Given the description of an element on the screen output the (x, y) to click on. 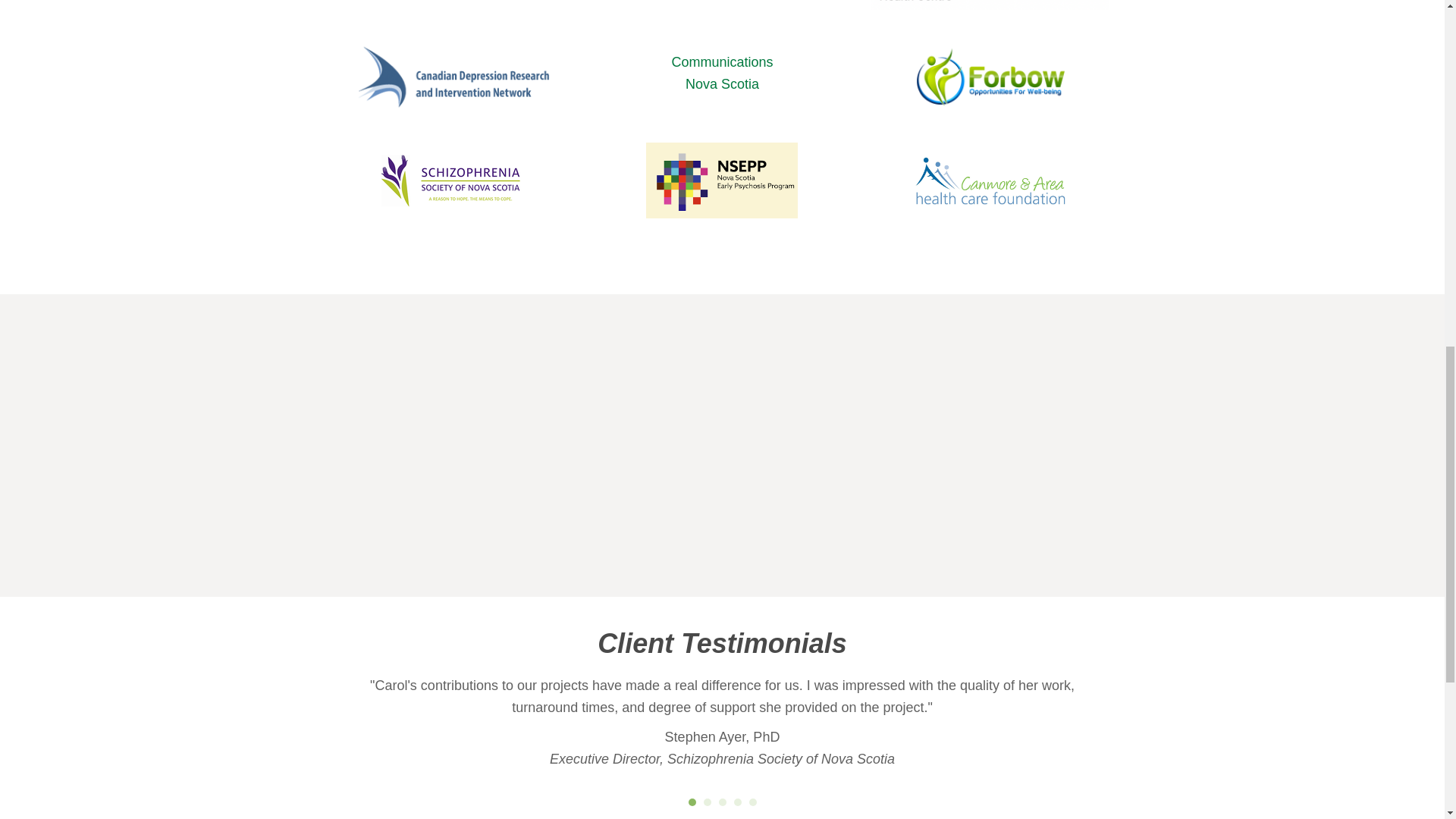
5 (753, 801)
Nova Scotia Department of Labour, Skills and Immigration (722, 198)
1480977397 (453, 79)
3 (989, 79)
Dal logo (722, 801)
1 (454, 9)
4 (691, 801)
NSEEP (737, 801)
Department of Service Nova Scotia (721, 181)
